Given the description of an element on the screen output the (x, y) to click on. 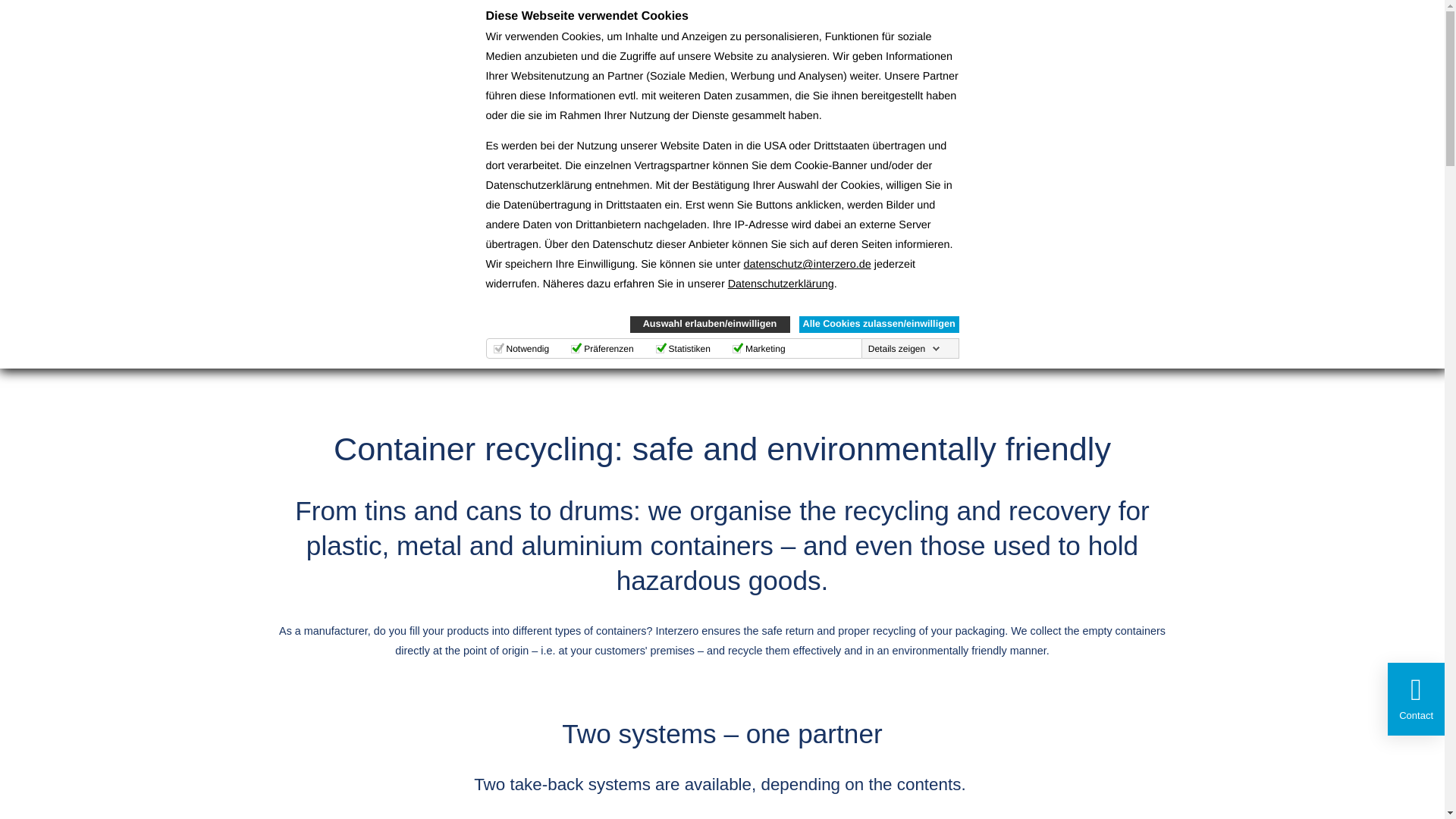
Details zeigen (903, 348)
